Given the description of an element on the screen output the (x, y) to click on. 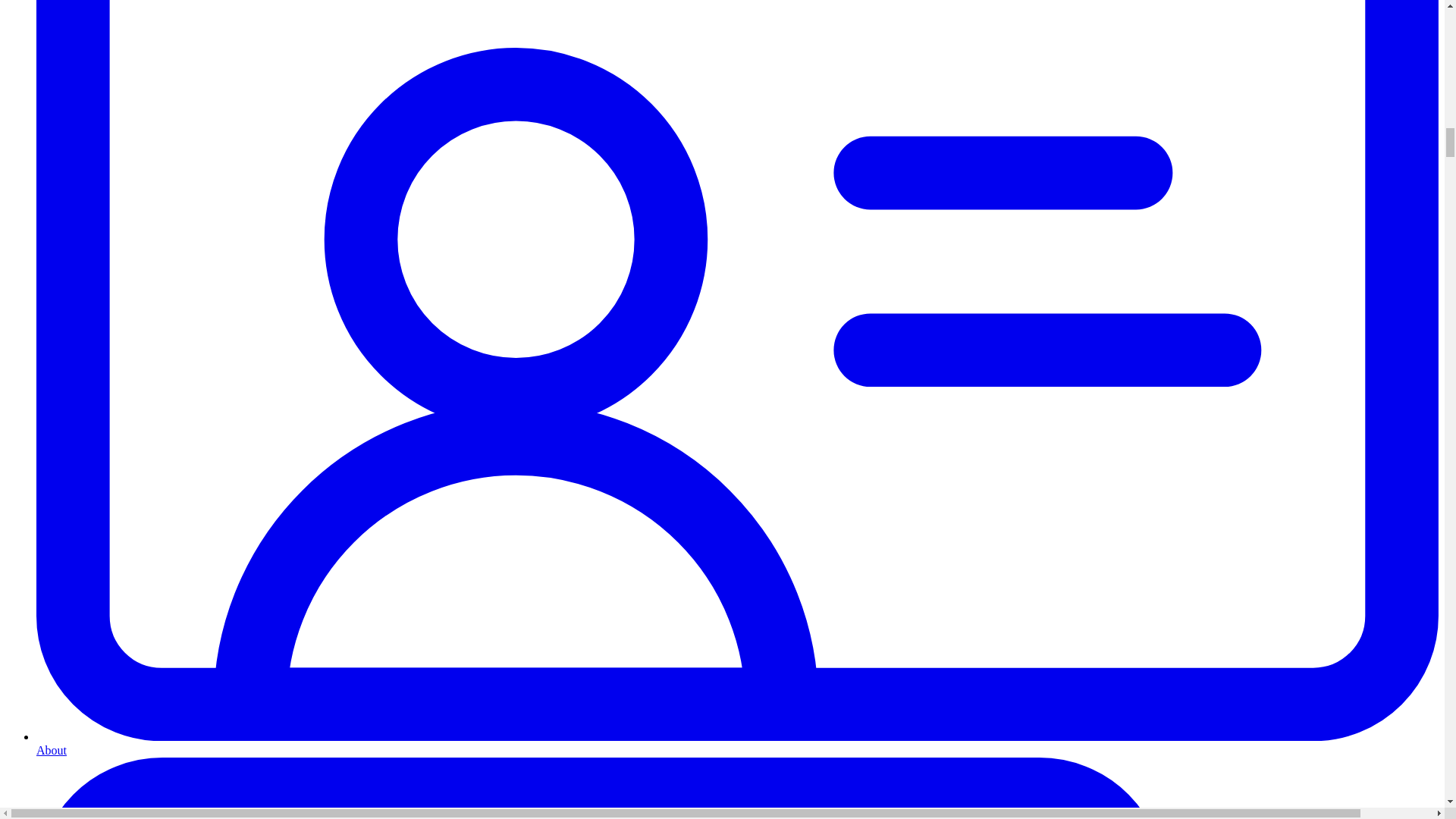
About (737, 743)
